Given the description of an element on the screen output the (x, y) to click on. 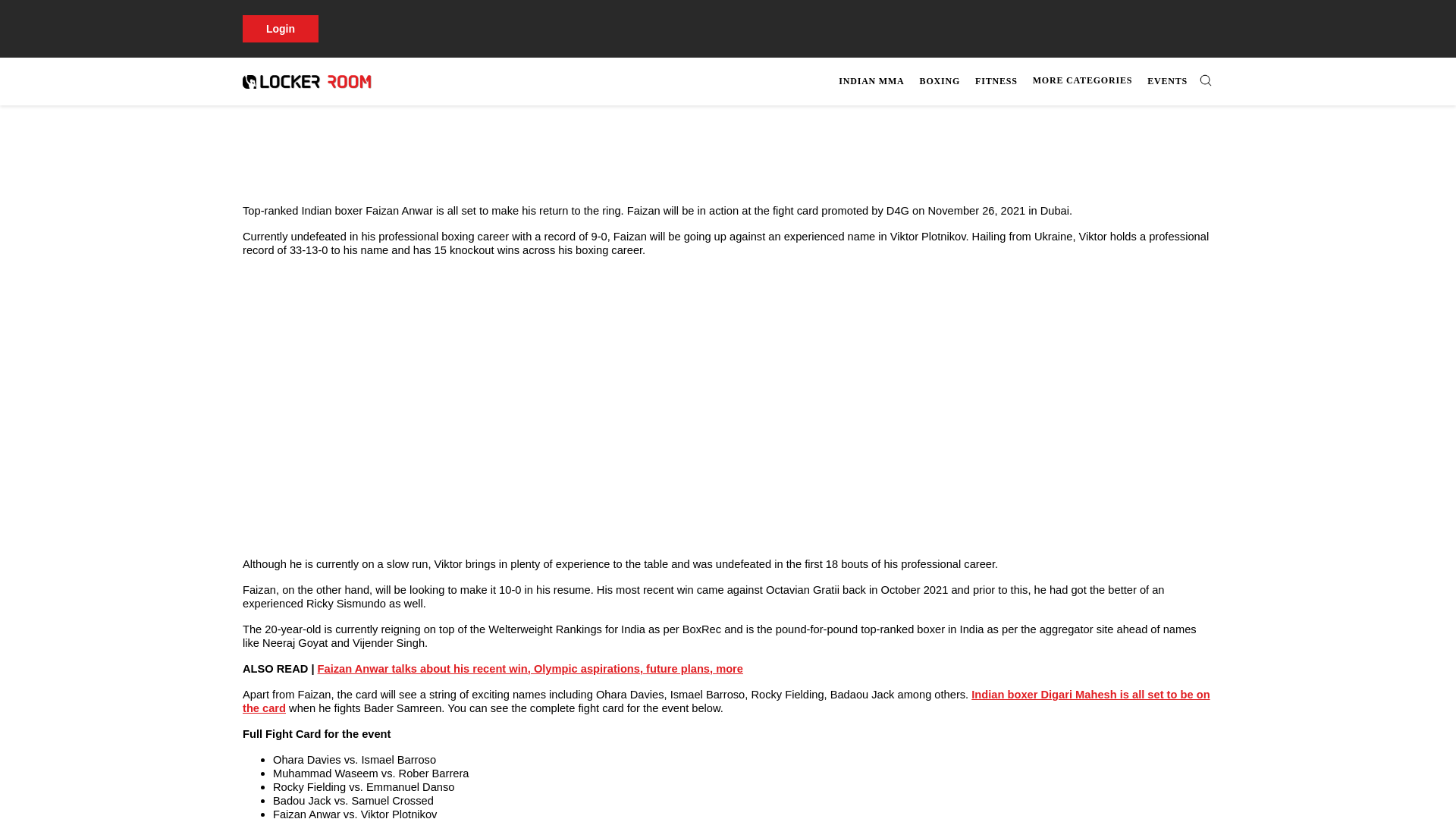
Indian boxer Digari Mahesh is all set to be on the card (726, 701)
